Given the description of an element on the screen output the (x, y) to click on. 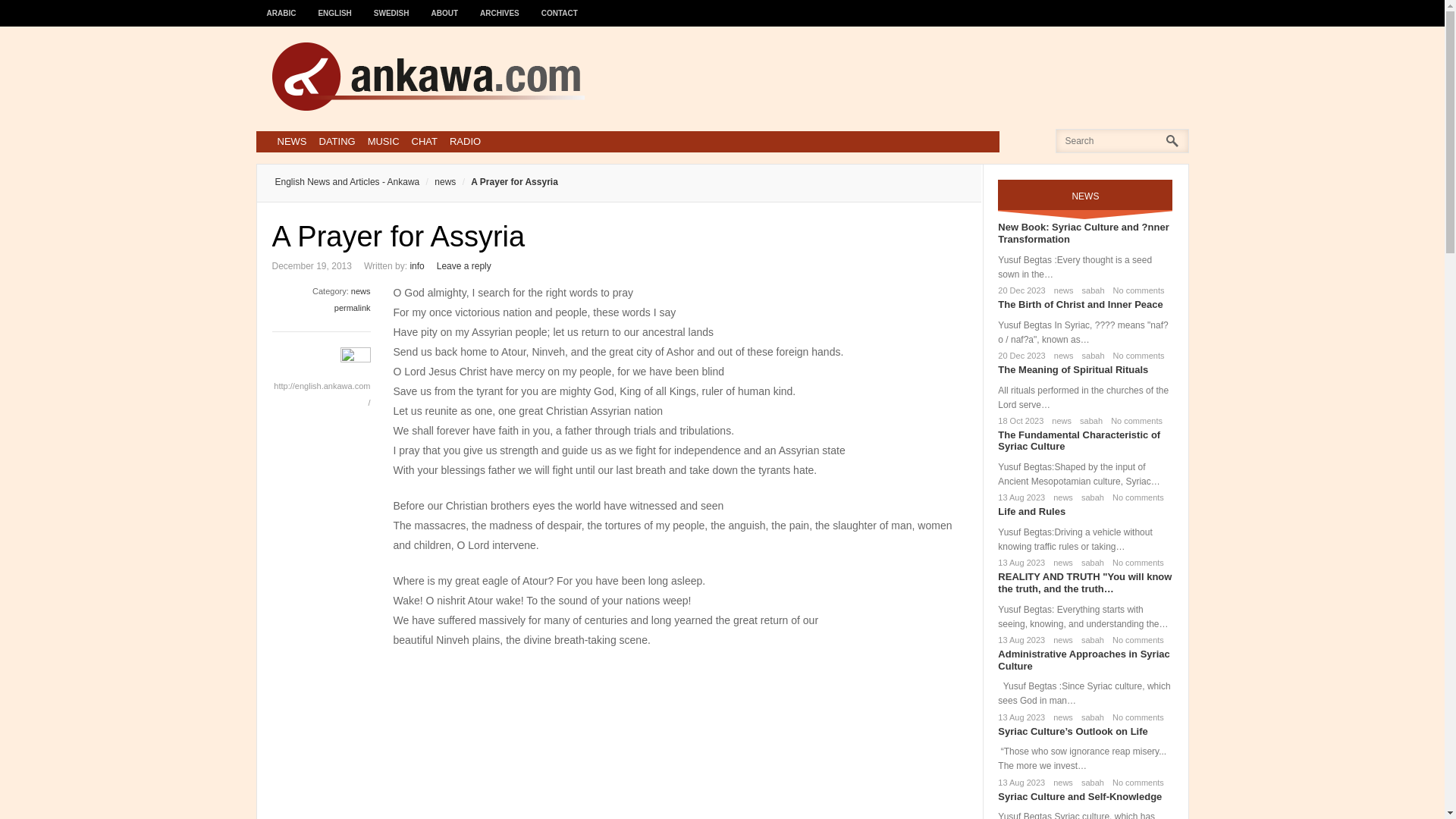
news (1059, 497)
news (360, 290)
news (437, 181)
The Fundamental Characteristic of Syriac Culture (1078, 440)
sabah (1088, 420)
Advertisement (680, 742)
NEWS (291, 141)
news (1061, 289)
No comments (1134, 497)
ARCHIVES (499, 5)
The Meaning of Spiritual Rituals (1072, 369)
permalink (352, 307)
The Birth of Christ and Inner Peace (1079, 304)
English News and Articles - Ankawa (347, 181)
SWEDISH (391, 5)
